Given the description of an element on the screen output the (x, y) to click on. 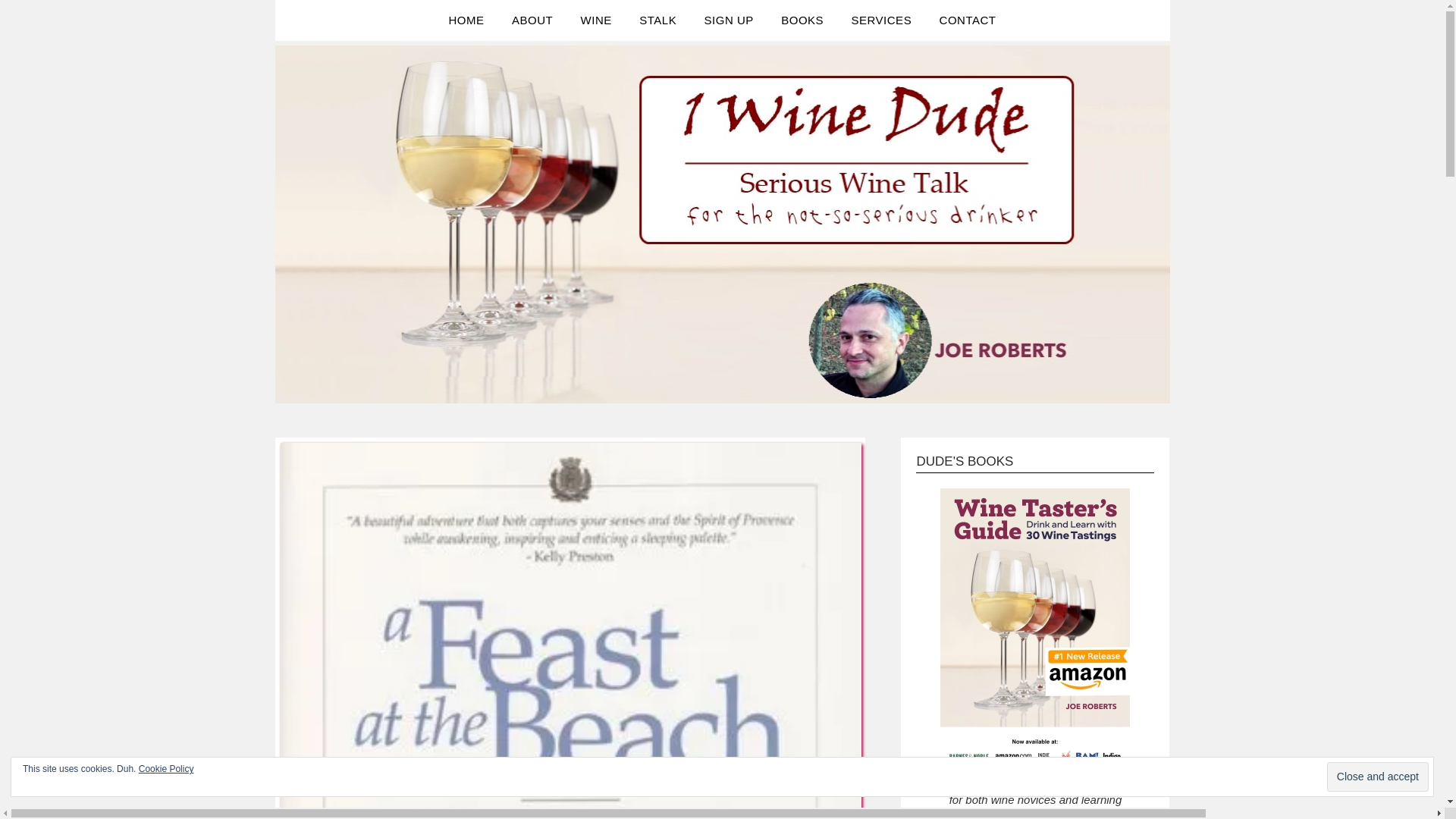
WINE (596, 20)
ABOUT (531, 20)
SIGN UP (729, 20)
CONTACT (968, 20)
SERVICES (882, 20)
1 Wine Dude (379, 53)
BOOKS (801, 20)
STALK (657, 20)
HOME (466, 20)
Close and accept (1377, 776)
